Given the description of an element on the screen output the (x, y) to click on. 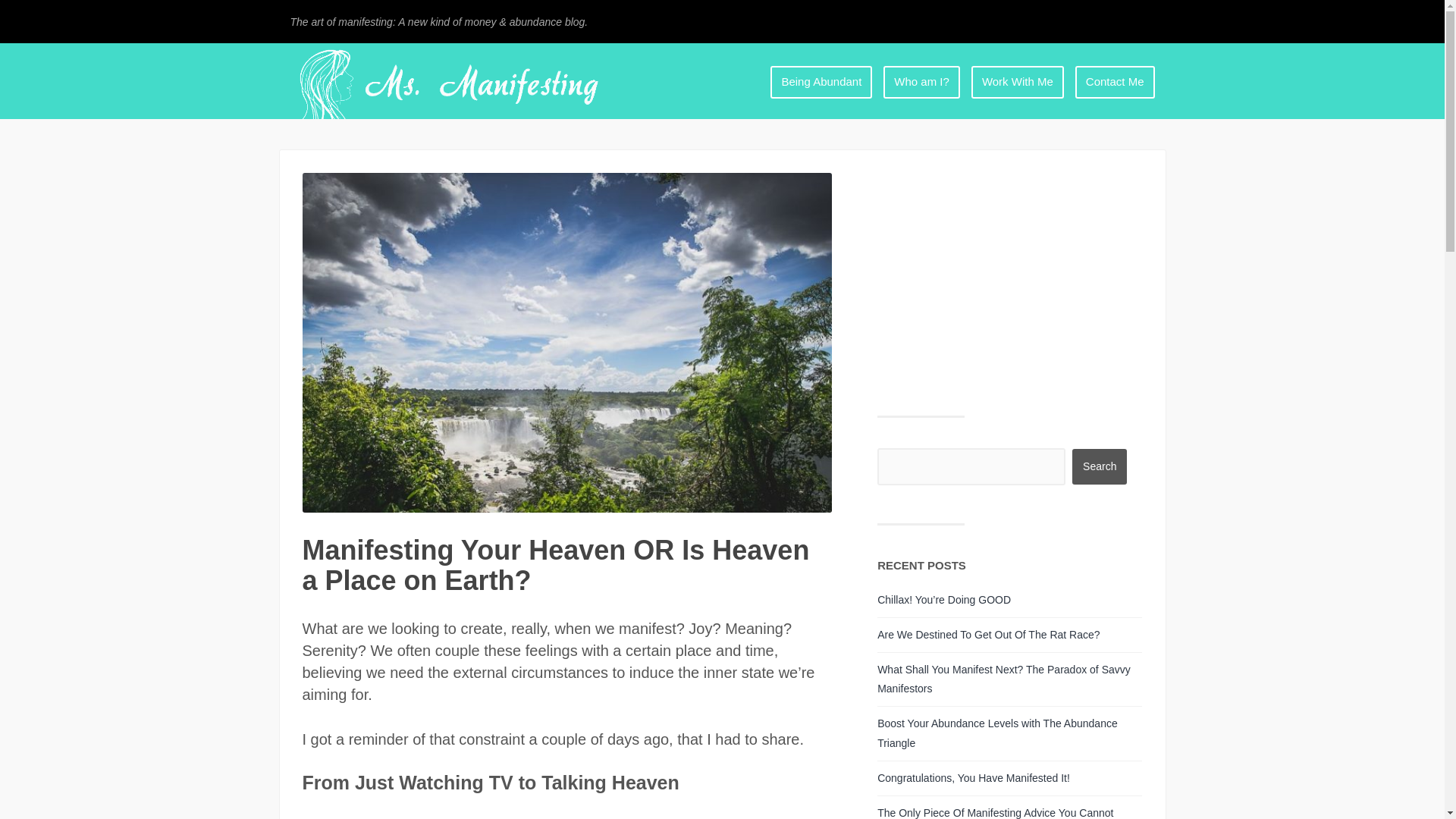
Who am I? (921, 81)
Advertisement (1009, 278)
Search (1098, 466)
Work With Me (1016, 81)
Boost Your Abundance Levels with The Abundance Triangle (997, 732)
Manifesting Your Heaven OR Is Heaven a Place on Earth? (555, 565)
Contact Me (1115, 81)
Congratulations, You Have Manifested It! (973, 777)
